Given the description of an element on the screen output the (x, y) to click on. 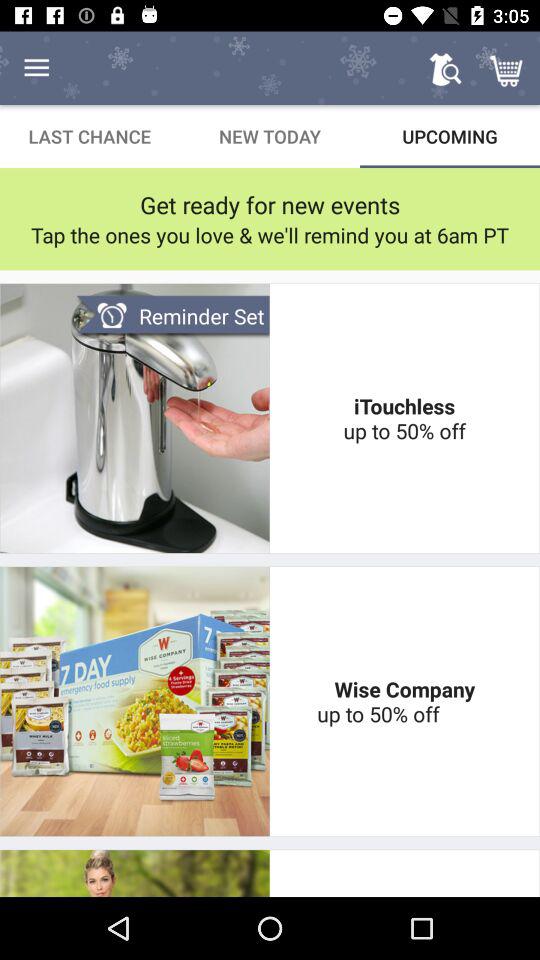
turn on icon above the upcoming icon (508, 67)
